Given the description of an element on the screen output the (x, y) to click on. 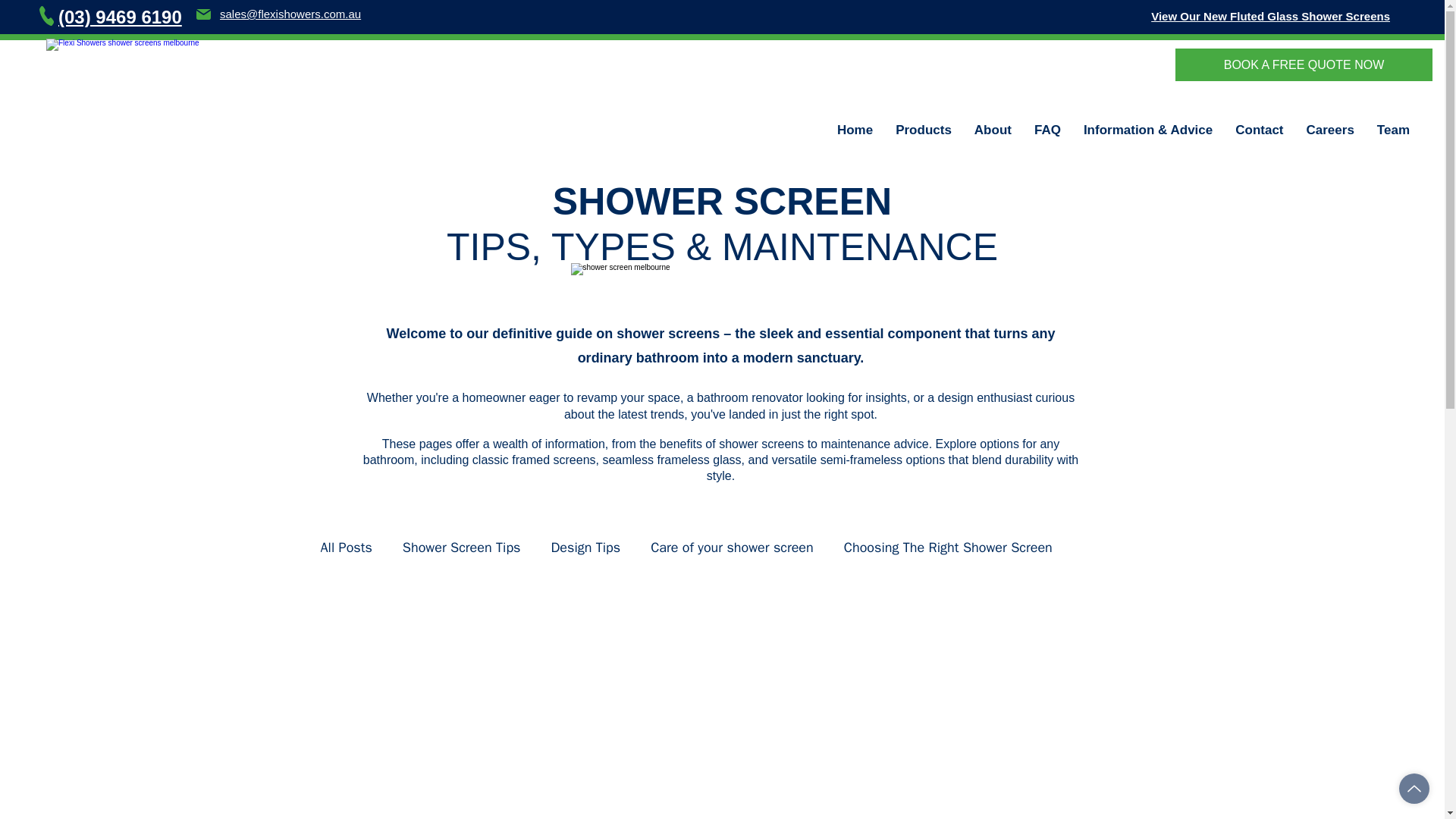
BOOK A FREE QUOTE NOW (1303, 64)
FAQ (1047, 130)
Products (922, 130)
All Posts (345, 547)
Shower Screen Tips (462, 547)
Careers (1330, 130)
Team (1393, 130)
Home (854, 130)
Contact (1259, 130)
About (993, 130)
View Our New Fluted Glass Shower Screens (1270, 16)
